Given the description of an element on the screen output the (x, y) to click on. 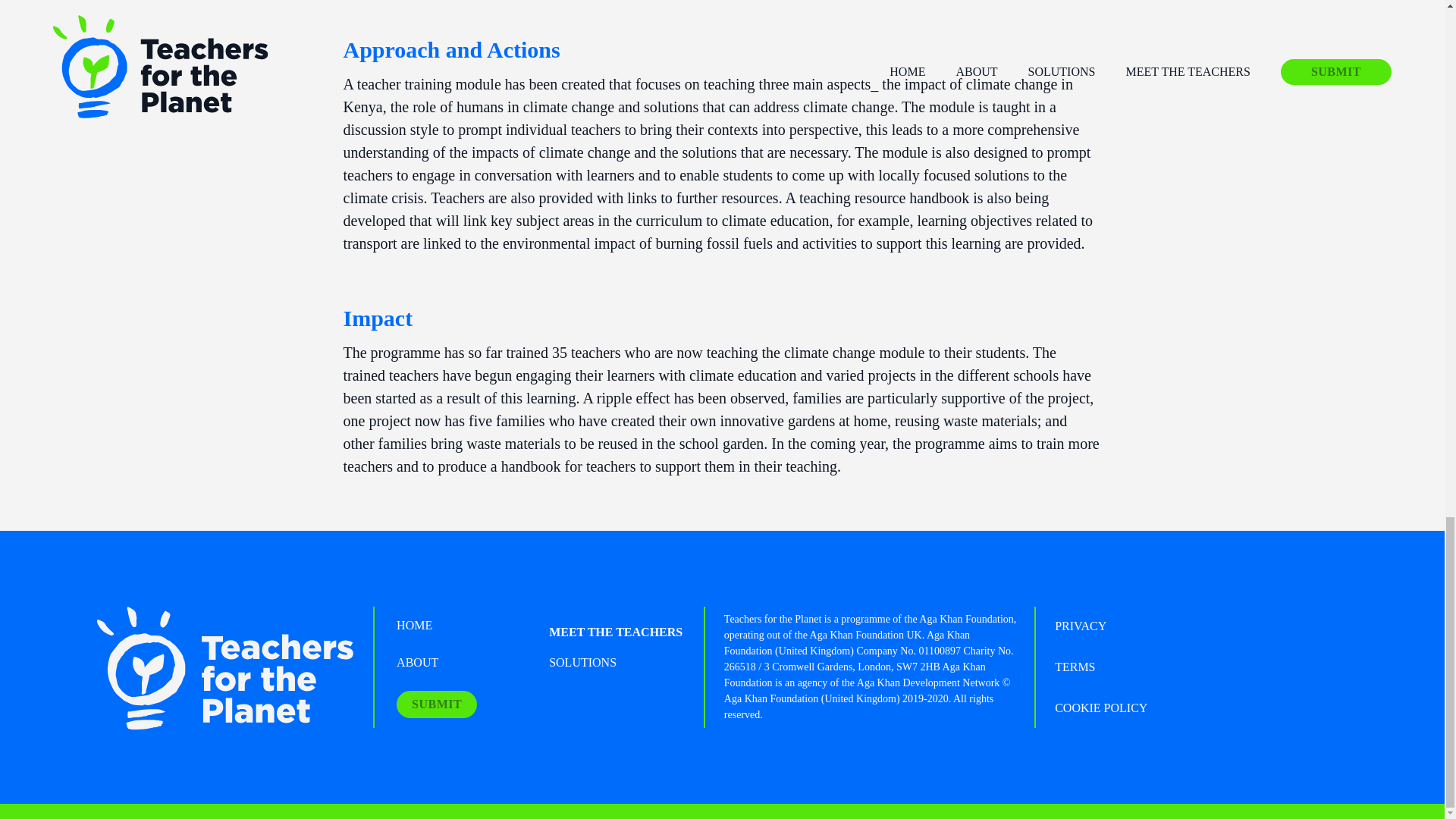
PRIVACY (1080, 626)
MEET THE TEACHERS (615, 632)
SUBMIT (436, 704)
ABOUT (417, 662)
HOME (414, 625)
COOKIE POLICY (1100, 708)
TERMS (1074, 667)
SOLUTIONS (581, 662)
